Given the description of an element on the screen output the (x, y) to click on. 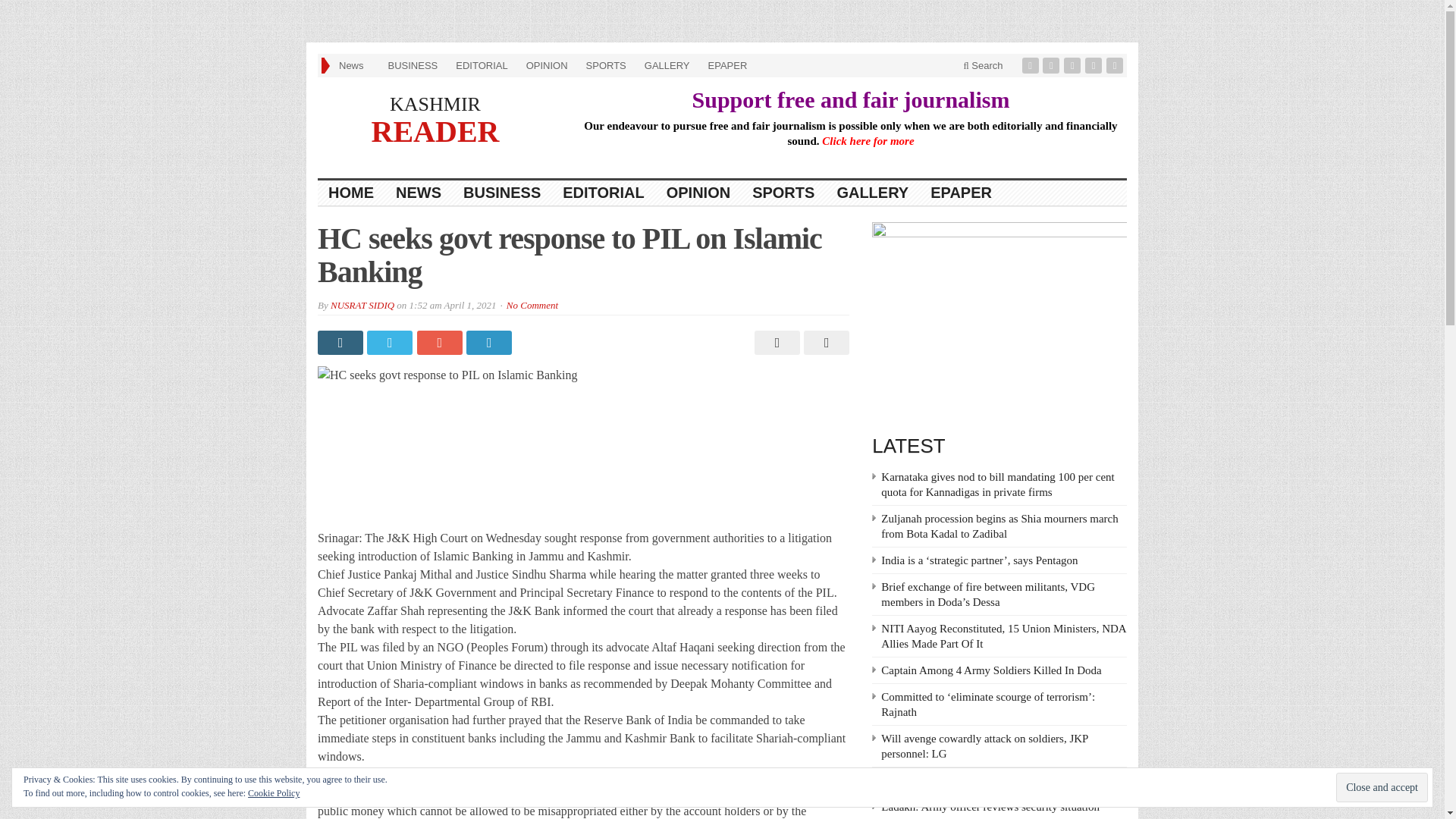
Daily Newspaper (435, 104)
Send by Email (823, 342)
Share on LinkedIn (490, 342)
NUSRAT SIDIQ (362, 305)
EPAPER (961, 192)
News (354, 65)
Share on Twitter (391, 342)
KASHMIR (435, 104)
Search (982, 65)
NEWS (418, 192)
READER (435, 130)
SPORTS (605, 65)
OPINION (546, 65)
GALLERY (872, 192)
GALLERY (666, 65)
